Given the description of an element on the screen output the (x, y) to click on. 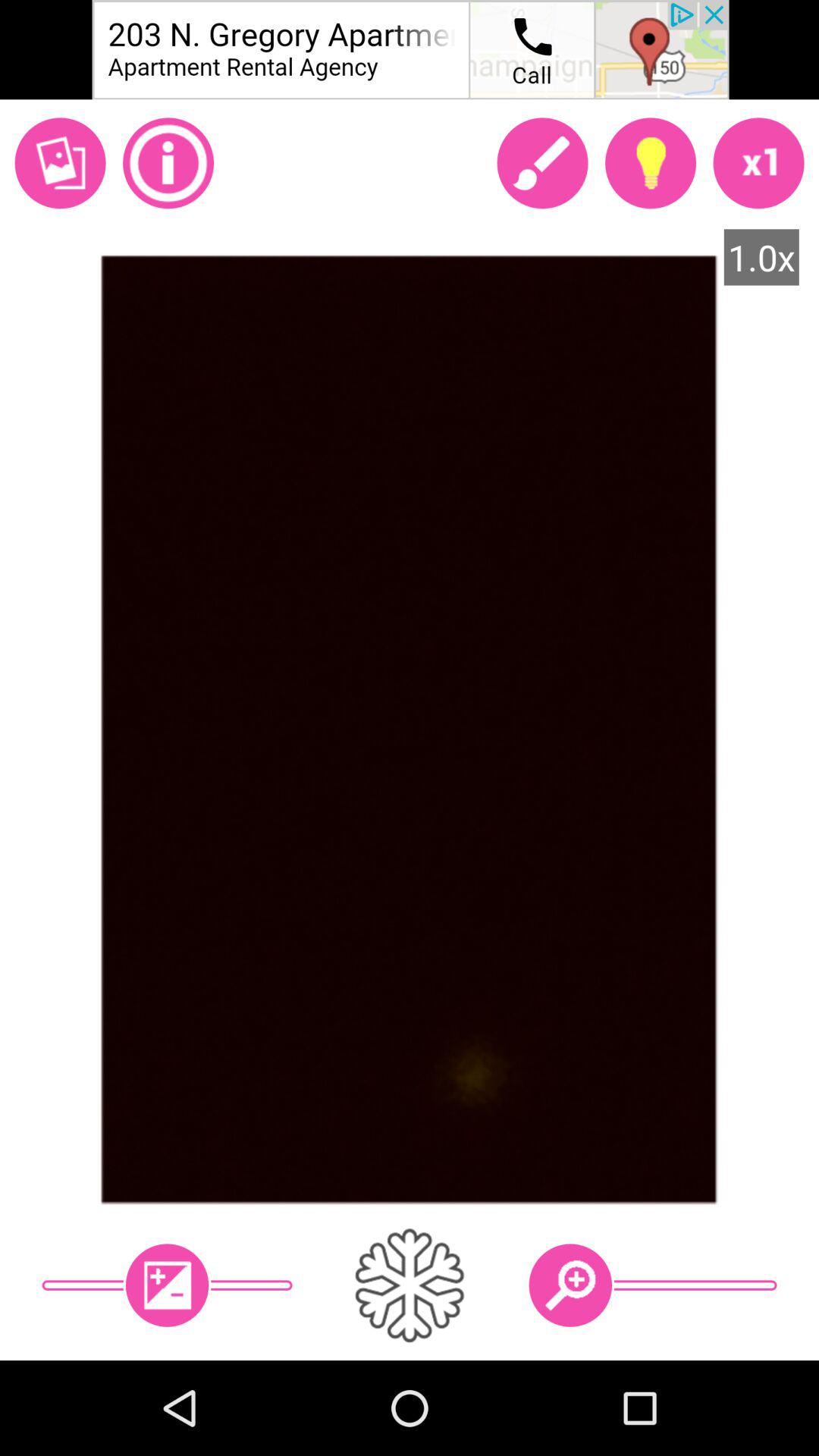
add photo (60, 163)
